Given the description of an element on the screen output the (x, y) to click on. 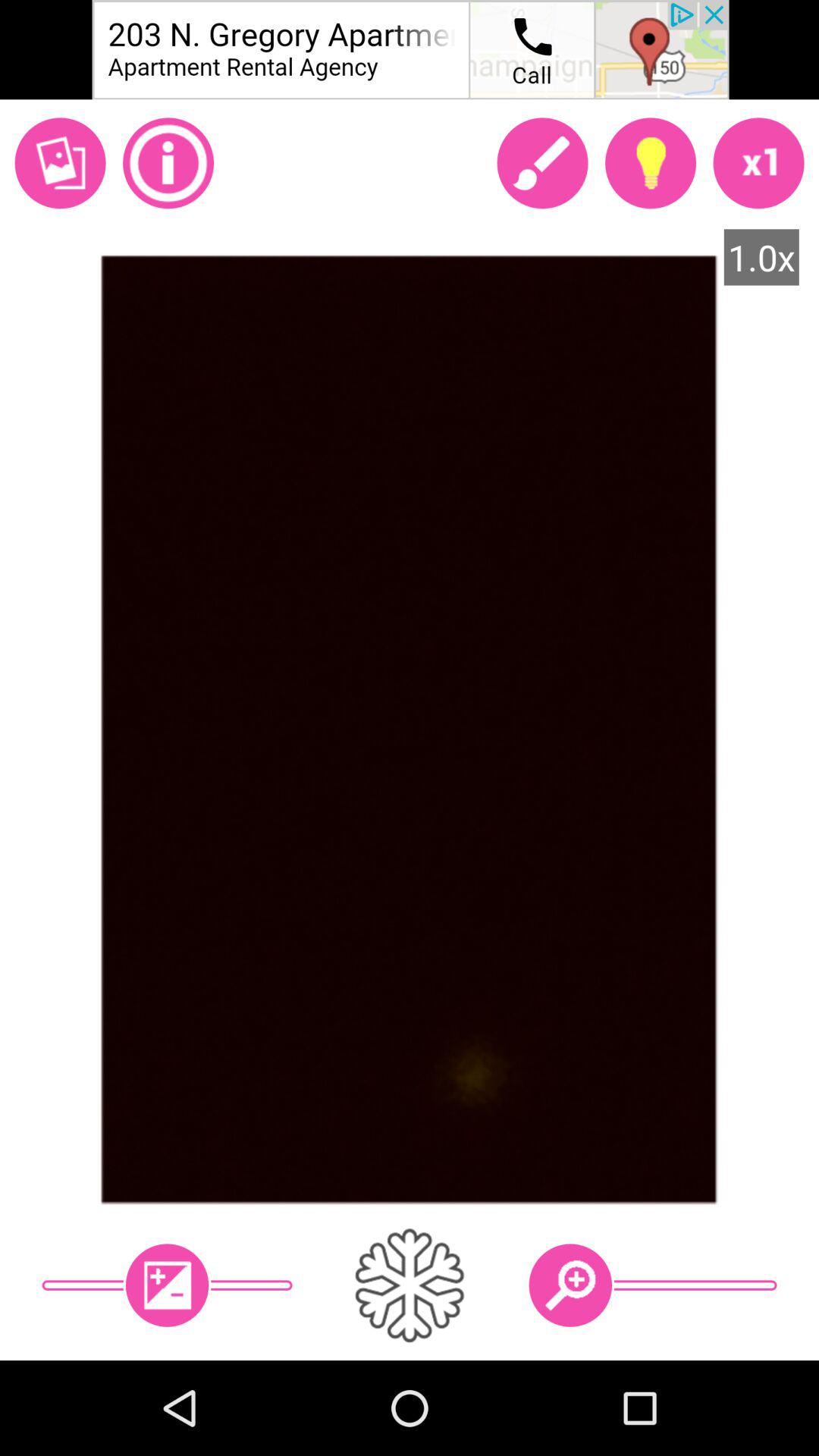
add photo (60, 163)
